Given the description of an element on the screen output the (x, y) to click on. 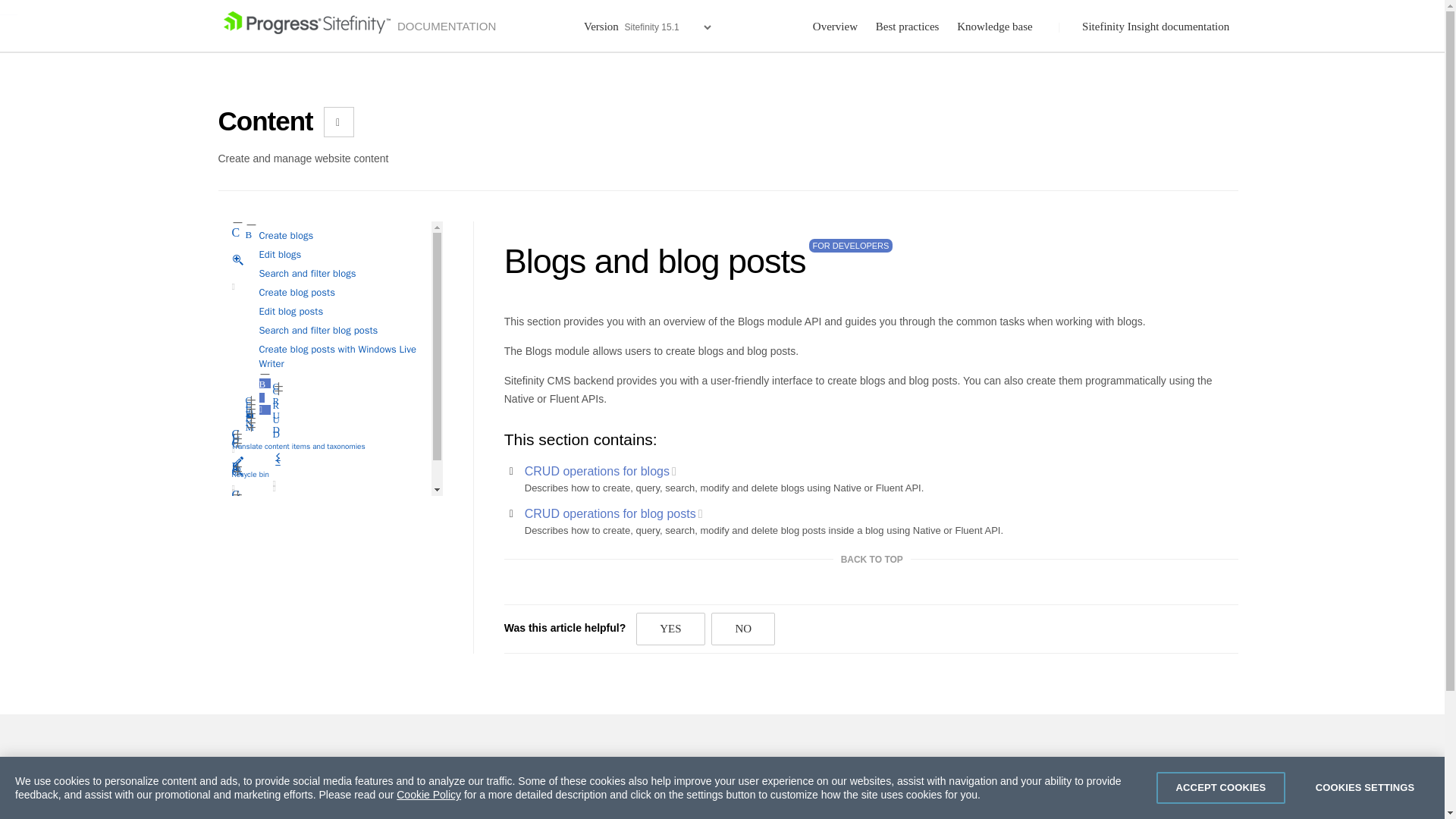
Overview (237, 286)
For developers (278, 488)
Edit blog posts (291, 310)
Overview (237, 497)
Overview (237, 449)
Create blog posts (296, 291)
Sitefinity Insight documentation (1157, 26)
Content (265, 125)
Overview (237, 491)
Overview (237, 488)
Search and filter blog posts (318, 329)
For developers (600, 471)
Edit blogs (280, 254)
For developers (264, 409)
Create blogs (286, 235)
